Given the description of an element on the screen output the (x, y) to click on. 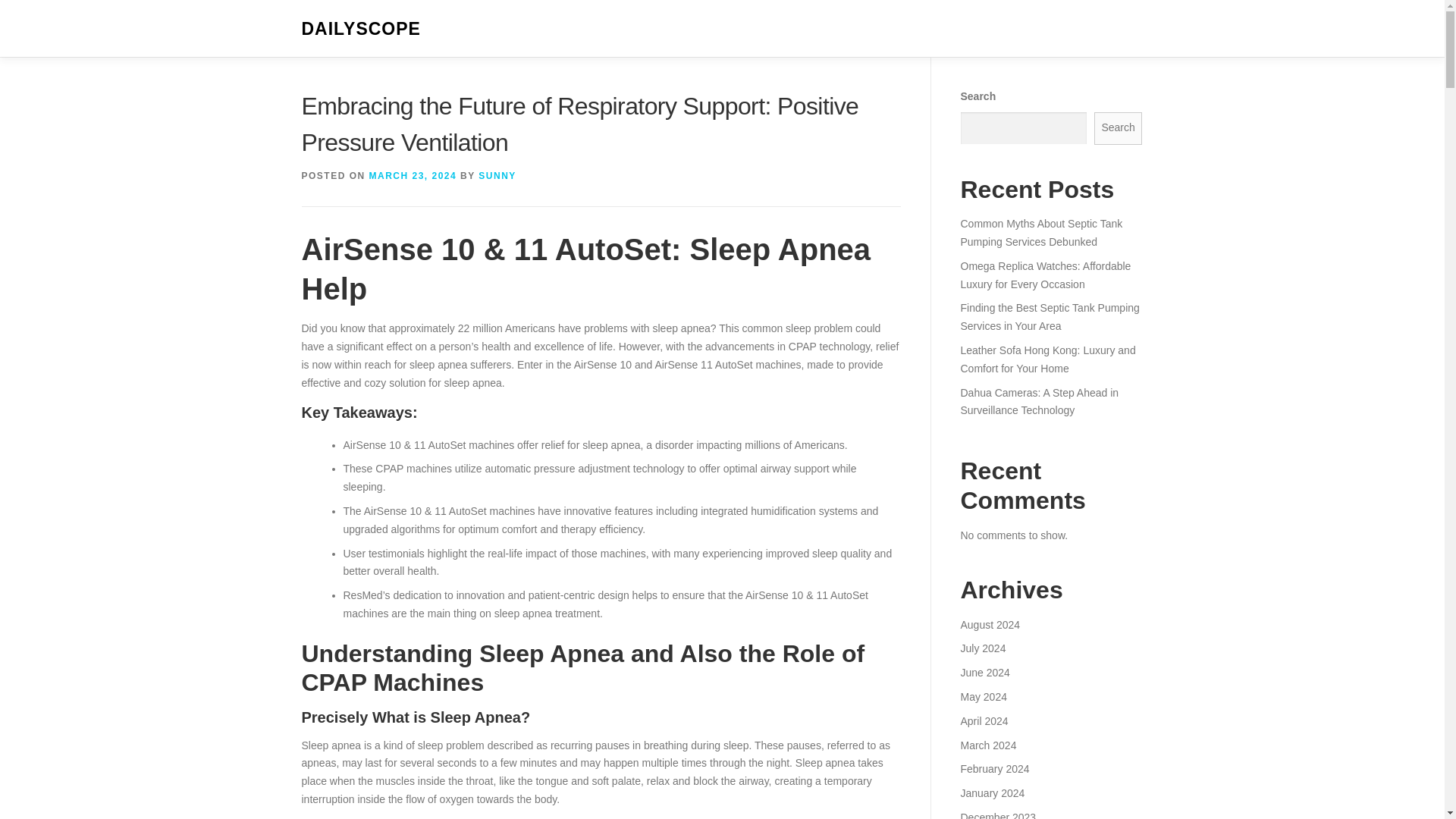
May 2024 (982, 696)
Omega Replica Watches: Affordable Luxury for Every Occasion (1045, 275)
December 2023 (997, 815)
Common Myths About Septic Tank Pumping Services Debunked (1040, 232)
April 2024 (983, 720)
Leather Sofa Hong Kong: Luxury and Comfort for Your Home (1047, 358)
July 2024 (982, 648)
DAILYSCOPE (360, 29)
MARCH 23, 2024 (413, 175)
SUNNY (497, 175)
